Given the description of an element on the screen output the (x, y) to click on. 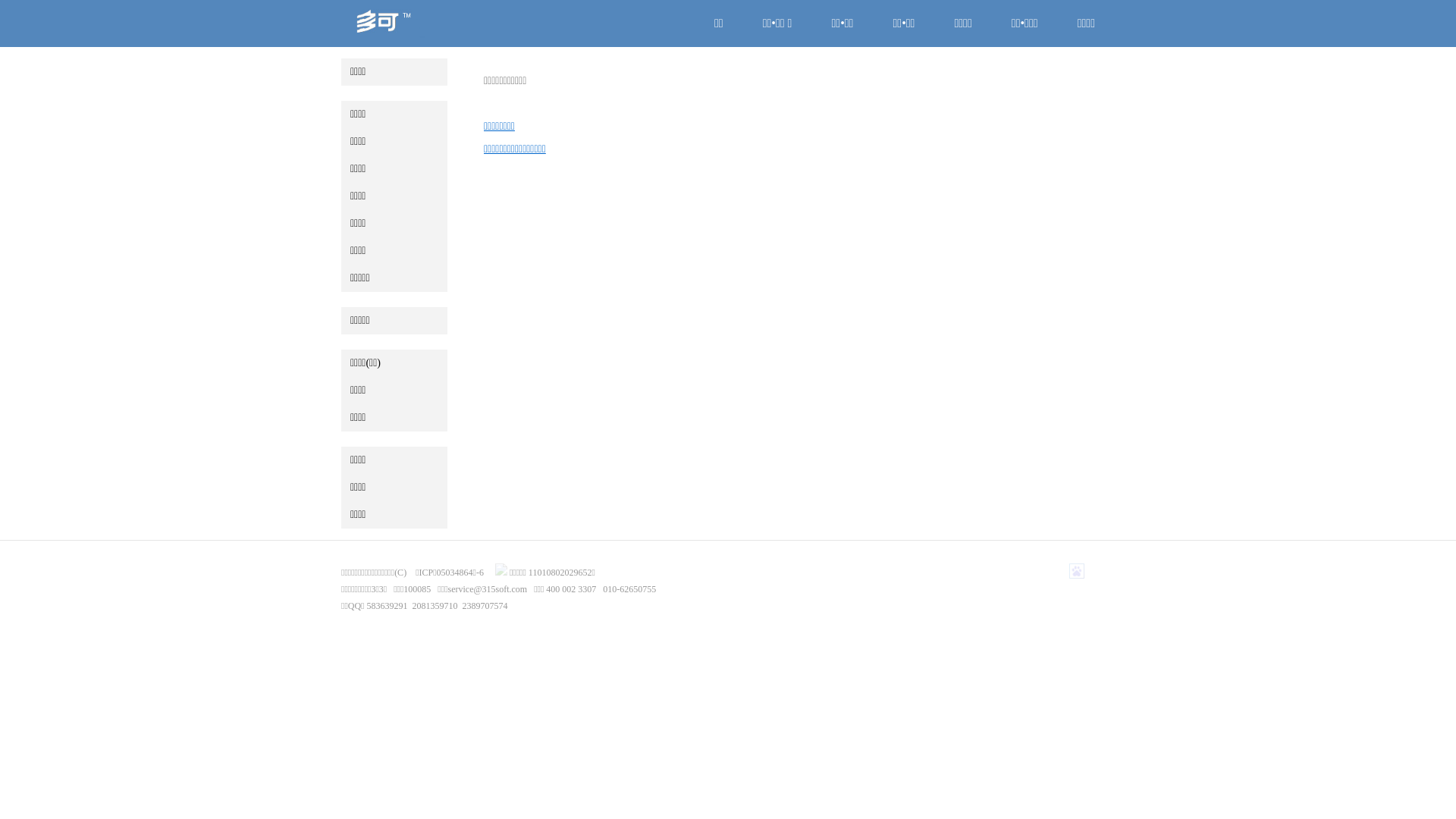
583639291 Element type: text (386, 605)
2081359710 Element type: text (434, 605)
2389707574 Element type: text (484, 605)
